Given the description of an element on the screen output the (x, y) to click on. 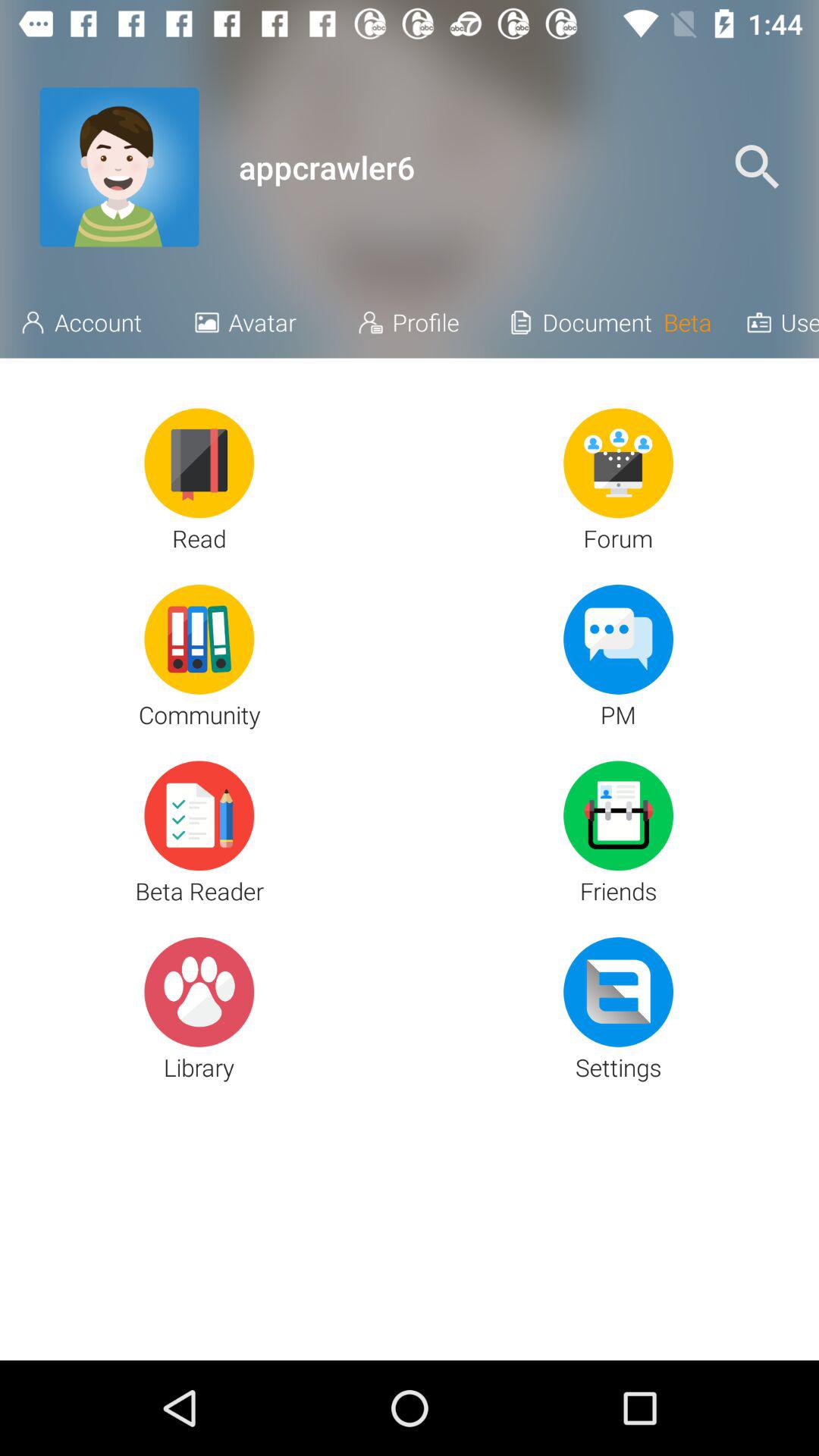
turn on icon to the left of appcrawler6 icon (119, 166)
